Given the description of an element on the screen output the (x, y) to click on. 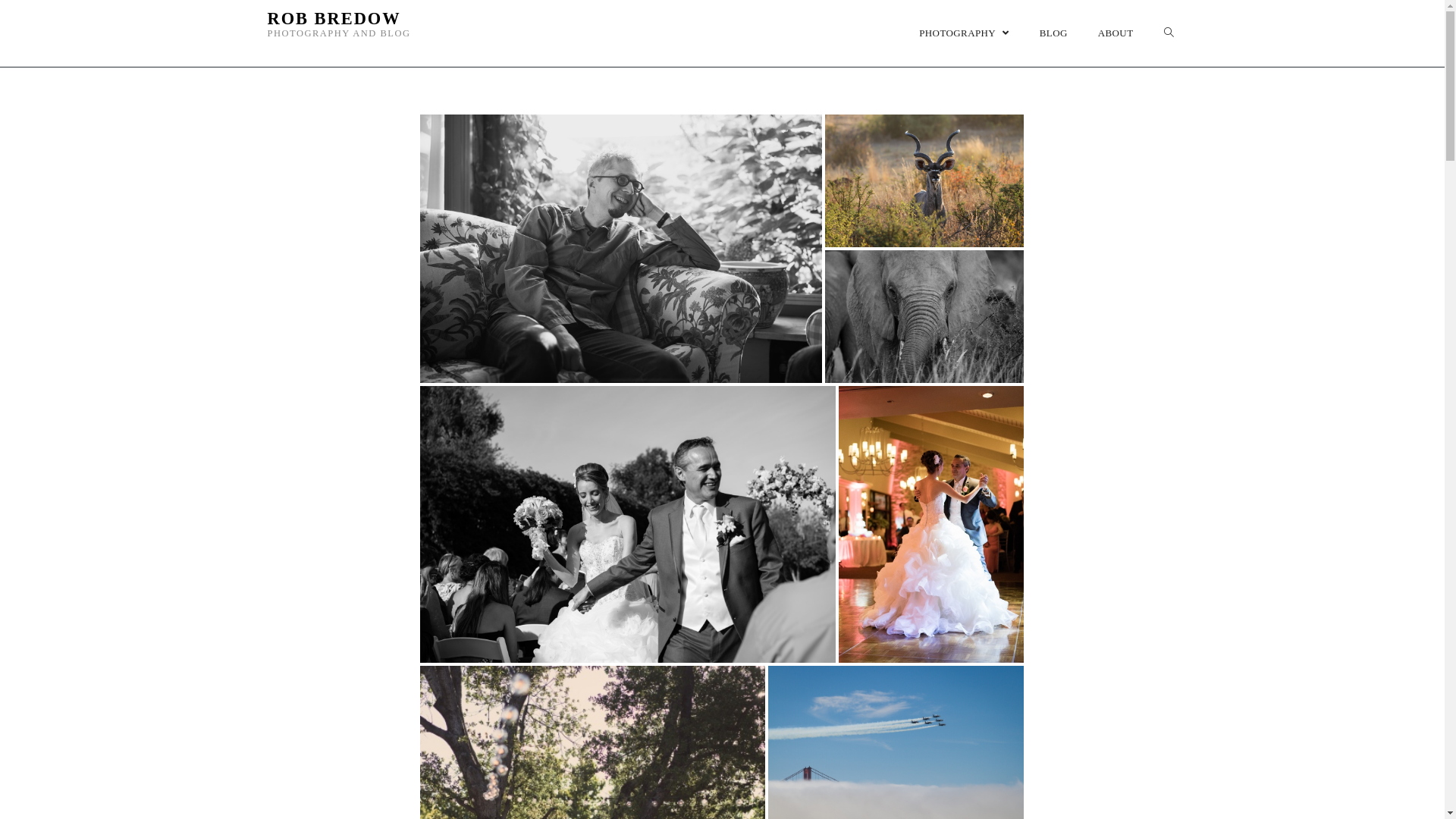
IMG_6832 Element type: hover (924, 316)
DSC01092 Element type: hover (930, 523)
BLOG Element type: text (1053, 33)
ROB BREDOW
PHOTOGRAPHY AND BLOG Element type: text (338, 33)
ABOUT Element type: text (1115, 33)
DSC00852 Element type: hover (627, 523)
IMG_2414 Element type: hover (924, 180)
PHOTOGRAPHY Element type: text (963, 33)
DSC07440 Element type: hover (621, 248)
